Given the description of an element on the screen output the (x, y) to click on. 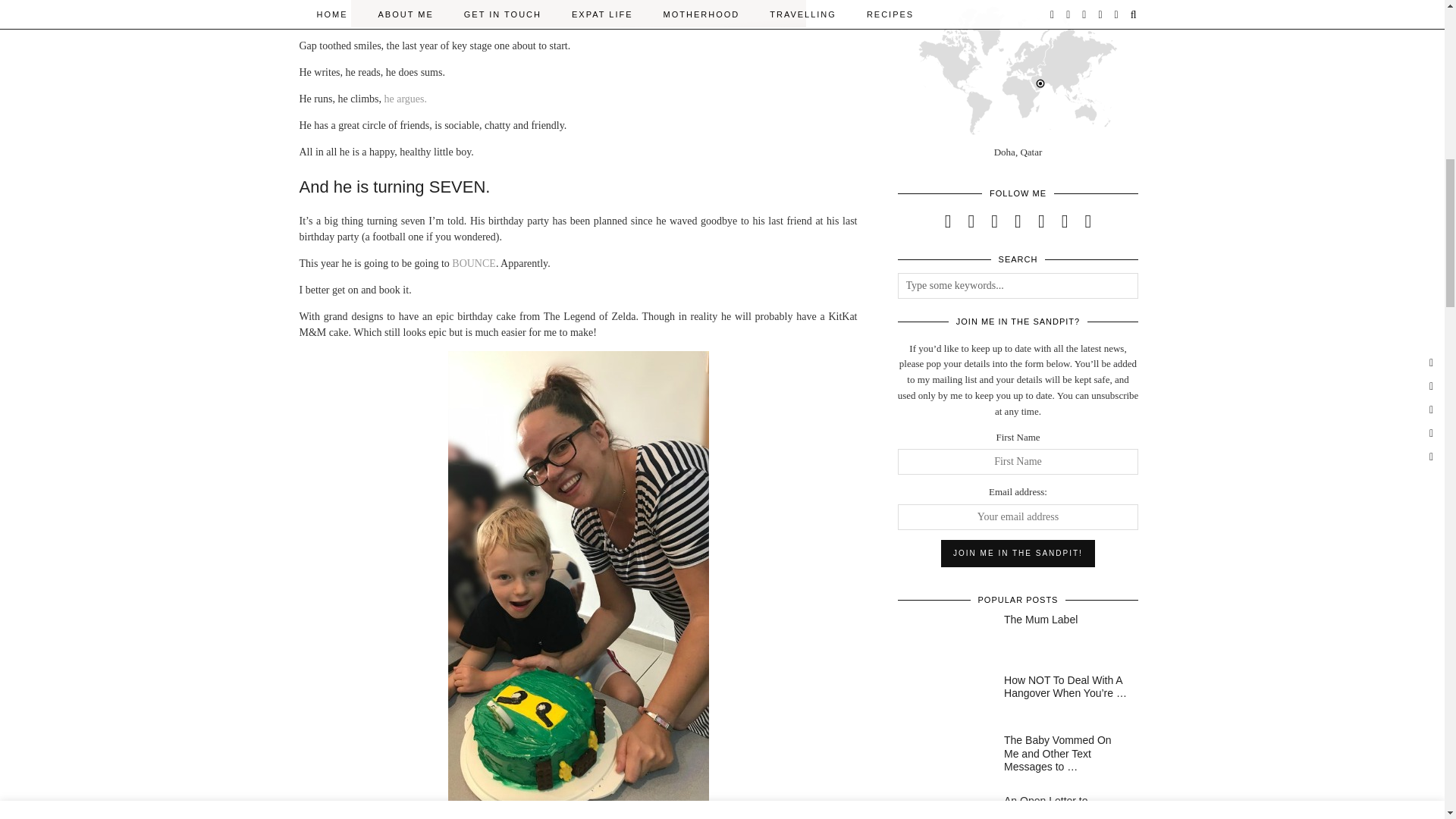
Join me in the sandpit! (1017, 553)
